Given the description of an element on the screen output the (x, y) to click on. 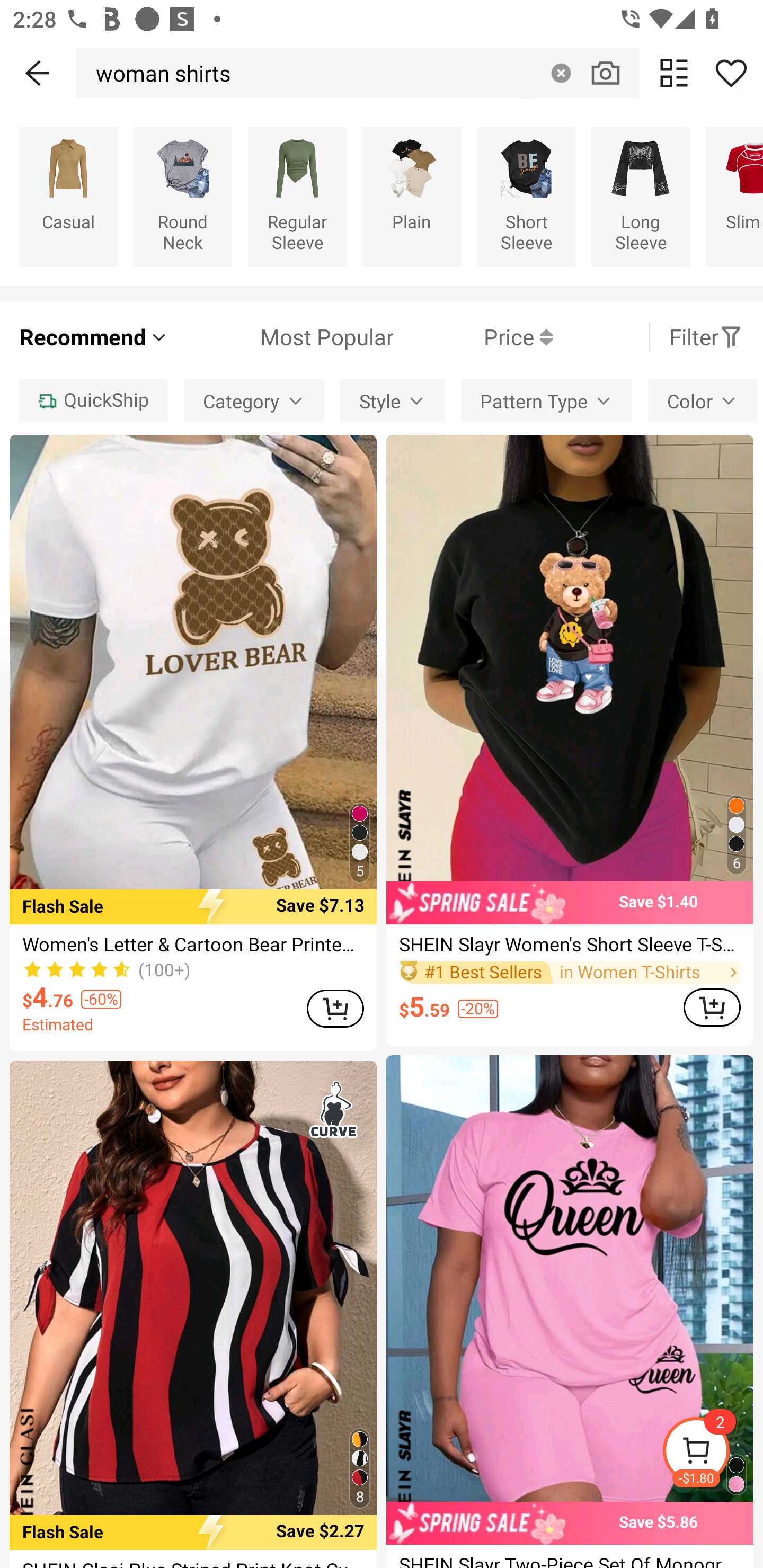
woman shirts (158, 72)
Clear (560, 72)
change view (673, 72)
Share (730, 72)
Casual (68, 196)
Round Neck (182, 196)
Regular Sleeve (296, 196)
Plain (411, 196)
Short Sleeve (525, 196)
Long Sleeve (640, 196)
Slim Fit (734, 196)
Recommend (94, 336)
Most Popular (280, 336)
Price (472, 336)
Filter (705, 336)
QuickShip (93, 400)
Category (253, 400)
Style (392, 400)
Pattern Type (545, 400)
Color (701, 400)
#1 Best Sellers in Women T-Shirts (569, 971)
ADD TO CART (711, 1007)
ADD TO CART (334, 1008)
-$1.80 (712, 1452)
